Given the description of an element on the screen output the (x, y) to click on. 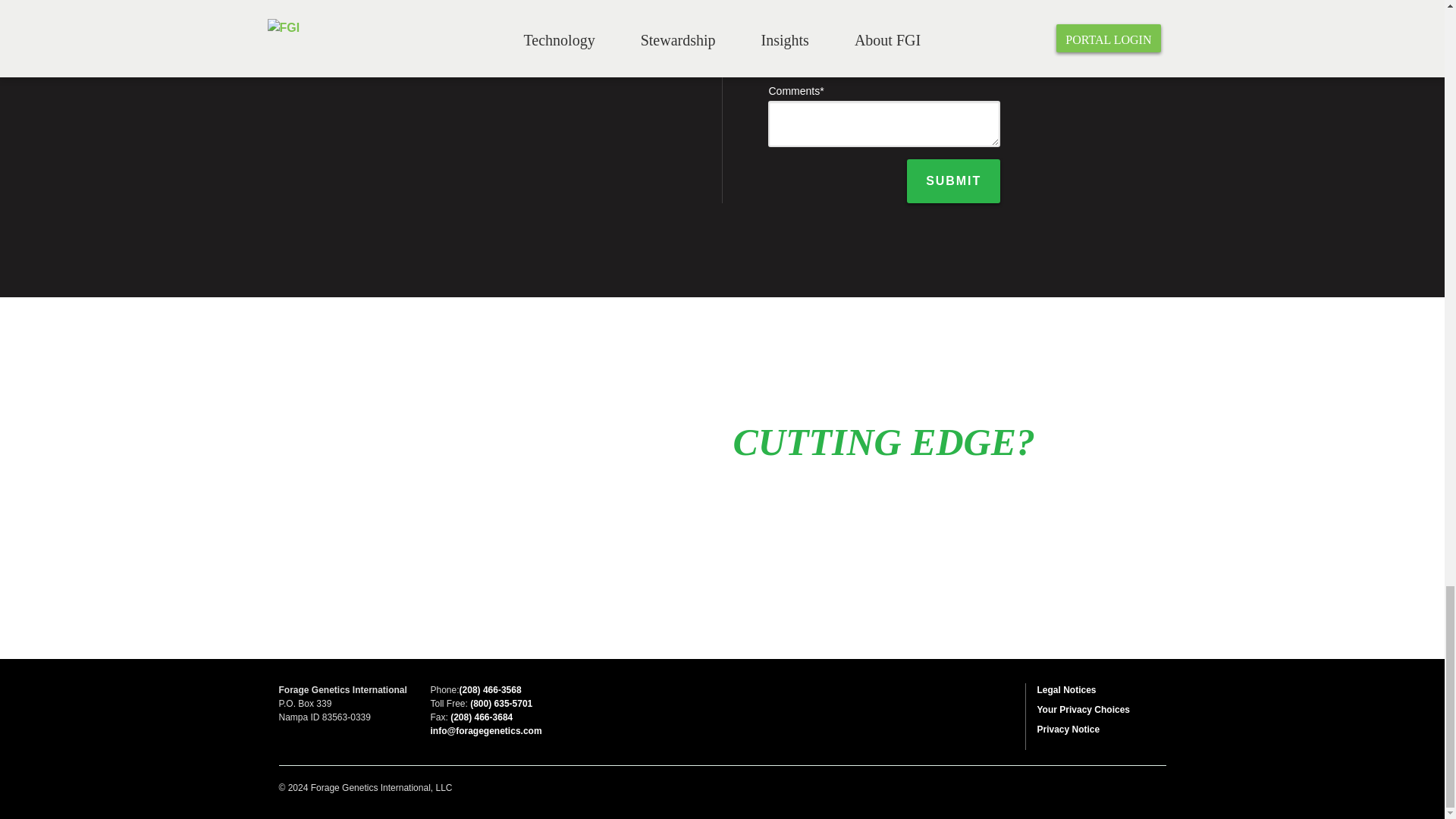
Submit (953, 180)
Privacy Notice (1068, 728)
Your Privacy Choices (1083, 709)
SHARE MY STORY (753, 529)
Legal Notices (1066, 689)
Submit (953, 180)
